Given the description of an element on the screen output the (x, y) to click on. 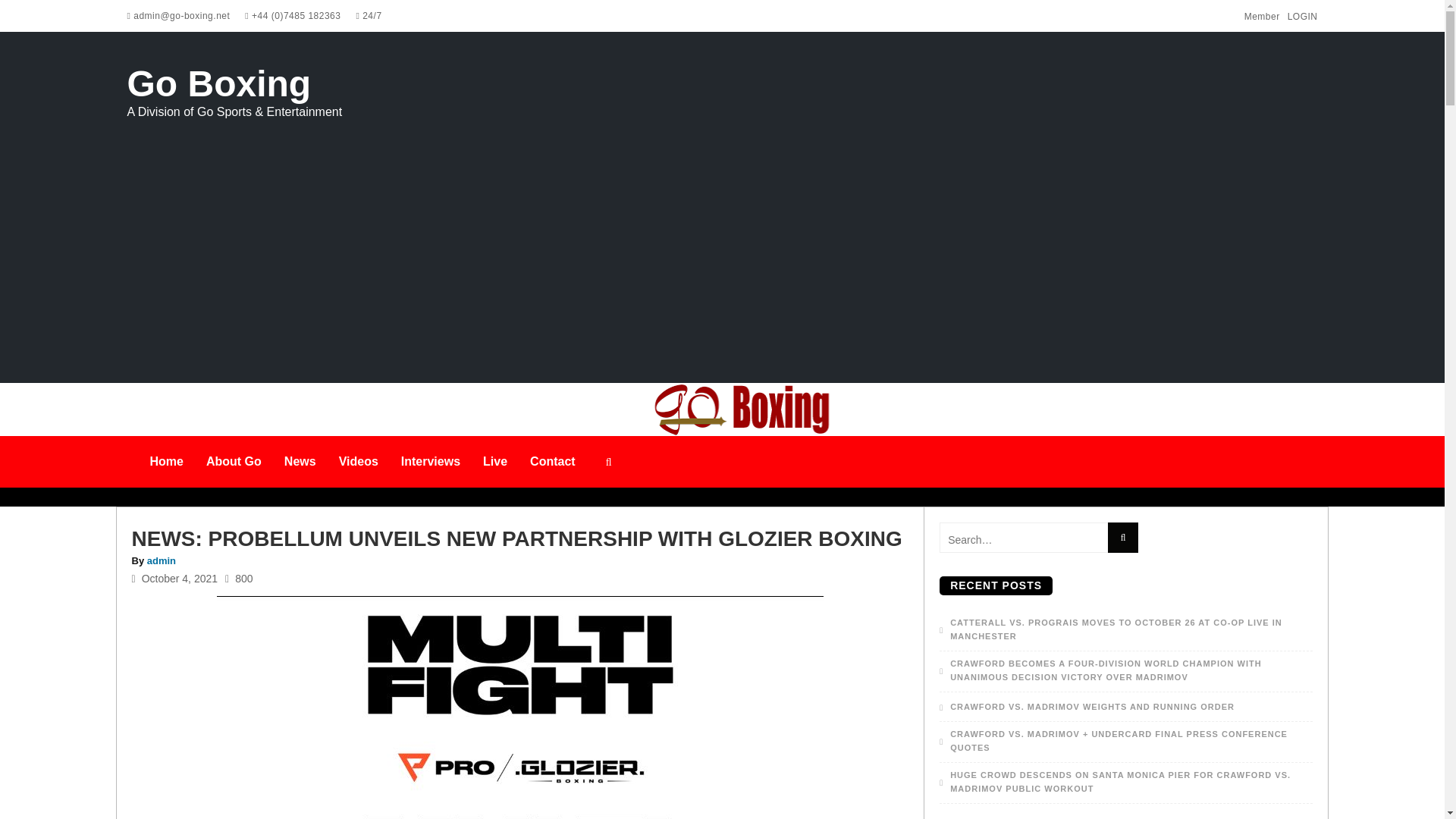
LOGIN (1302, 16)
Search (1121, 537)
About Go (234, 461)
admin (161, 560)
Videos (358, 461)
CRAWFORD VS. MADRIMOV WEIGHTS AND RUNNING ORDER (1086, 707)
Posts by admin (161, 560)
News (300, 461)
Go Boxing (219, 91)
Interviews (430, 461)
